Given the description of an element on the screen output the (x, y) to click on. 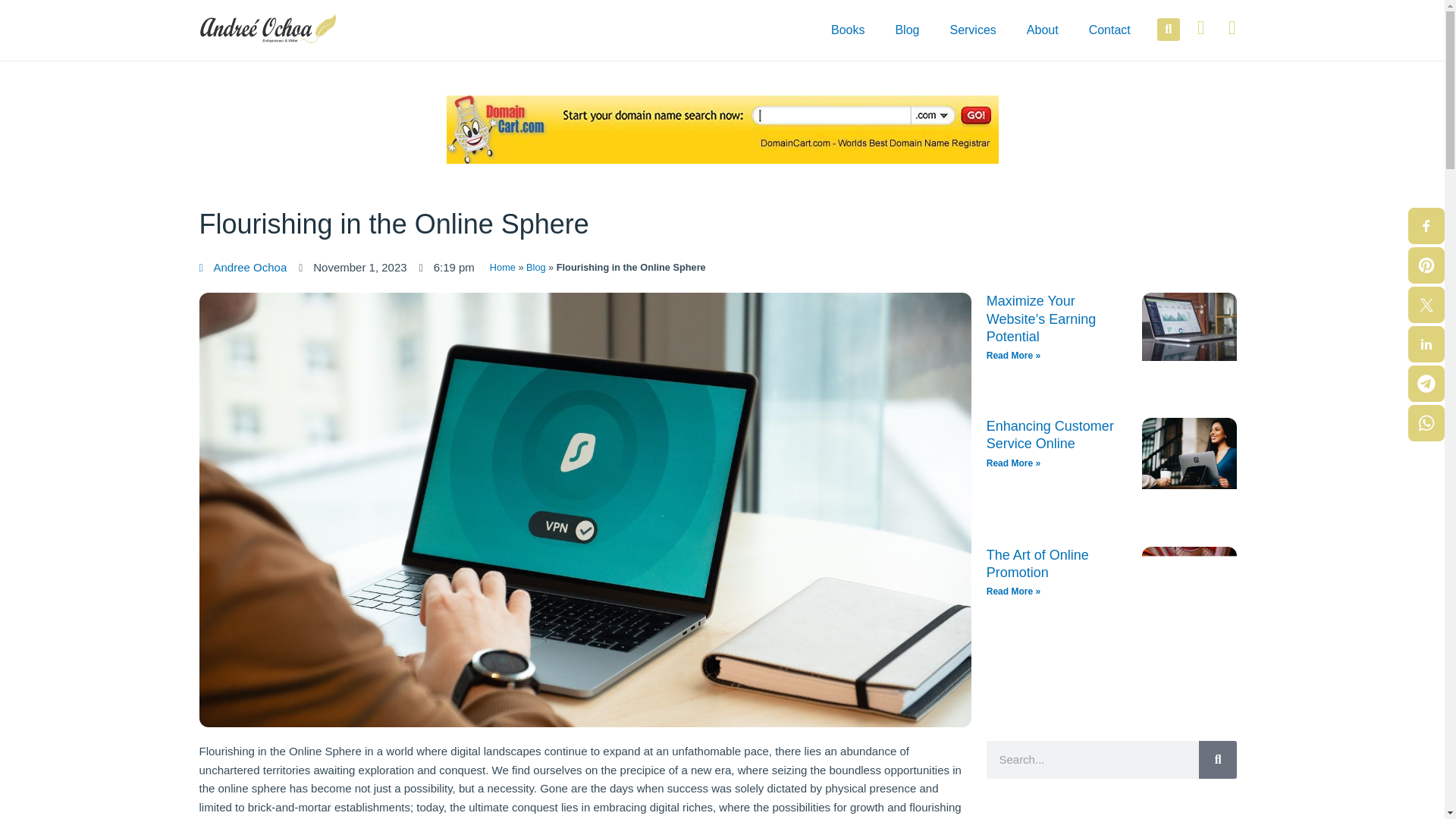
Technology Services (972, 30)
Search for a new domain name (721, 128)
Andree Ochoa (242, 267)
About (1042, 30)
Contact (1109, 30)
Books (847, 30)
Blog (535, 266)
Services (972, 30)
Home (502, 266)
Blog (906, 30)
